Given the description of an element on the screen output the (x, y) to click on. 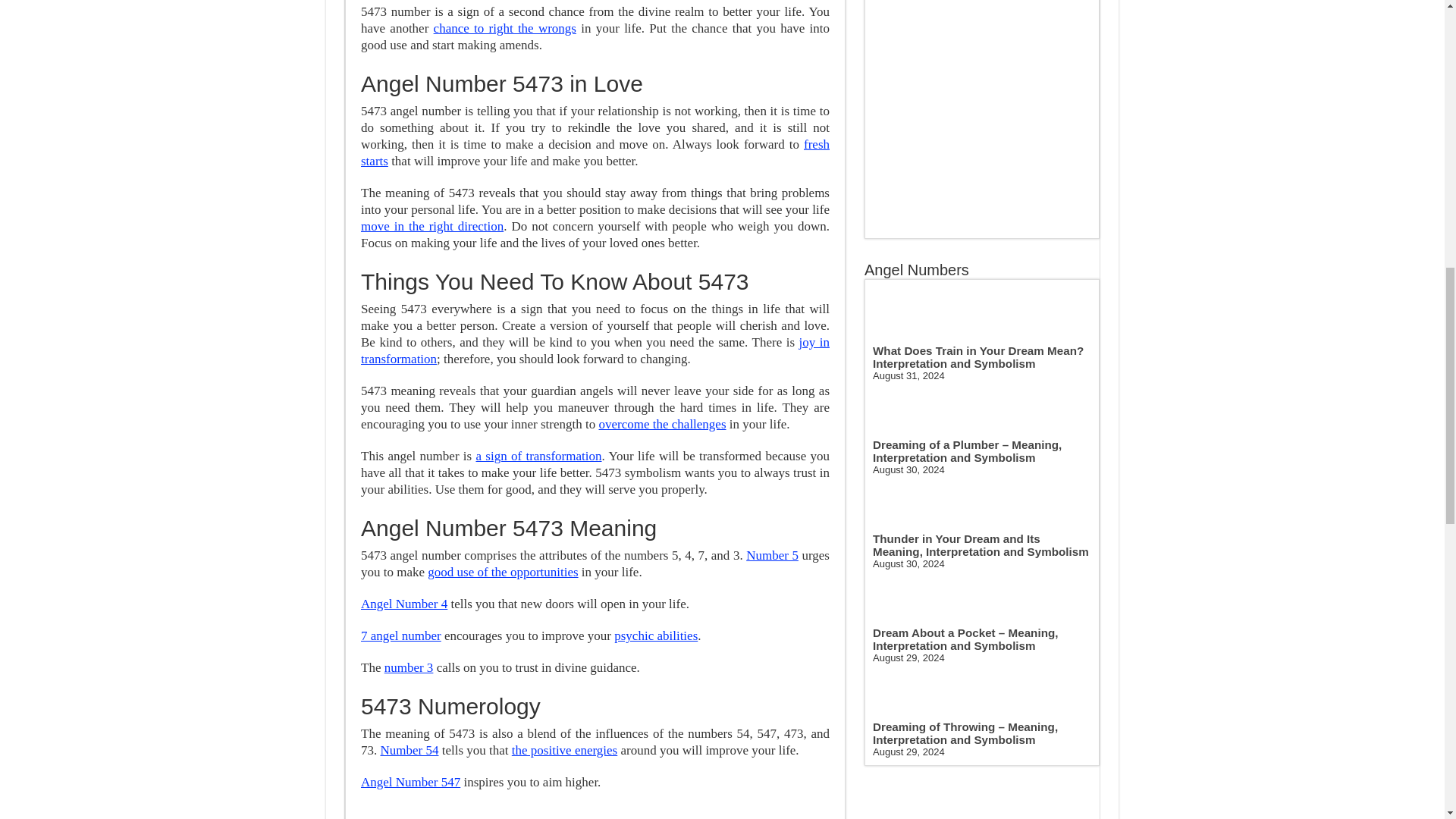
Angel Number 4 (403, 603)
good use of the opportunities (503, 572)
Number 54 (409, 749)
number 3 (408, 667)
chance to right the wrongs (504, 28)
Number 5 (771, 554)
overcome the challenges (662, 423)
Angel Number 547 (410, 781)
psychic abilities (655, 635)
fresh starts (595, 152)
